Given the description of an element on the screen output the (x, y) to click on. 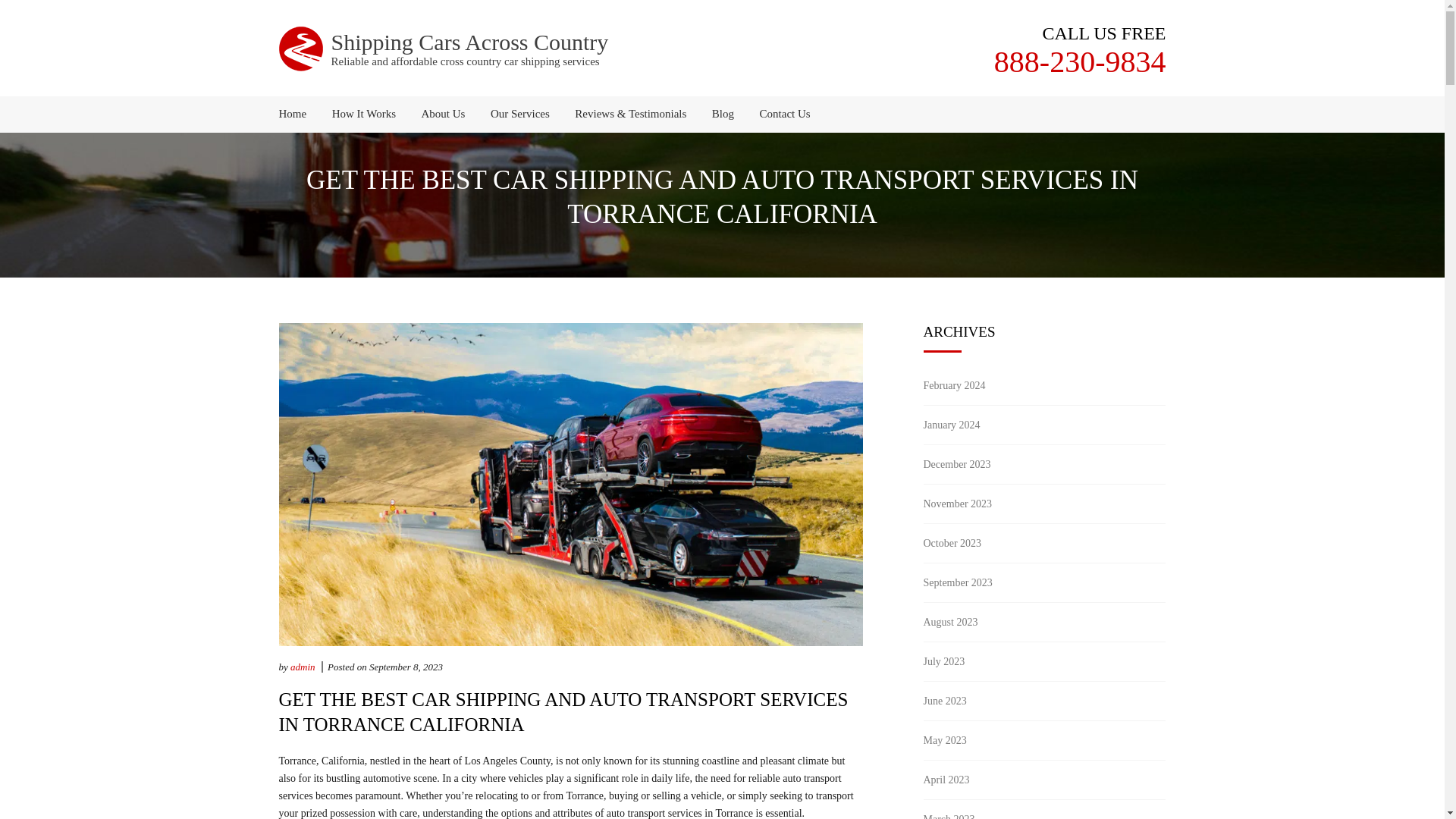
Blog (722, 114)
Contact Us (779, 114)
Home (298, 114)
About Us (443, 114)
888-230-9834 (1080, 61)
February 2024 (954, 385)
admin (302, 666)
Shipping Cars Across Country (469, 42)
January 2024 (951, 424)
